Given the description of an element on the screen output the (x, y) to click on. 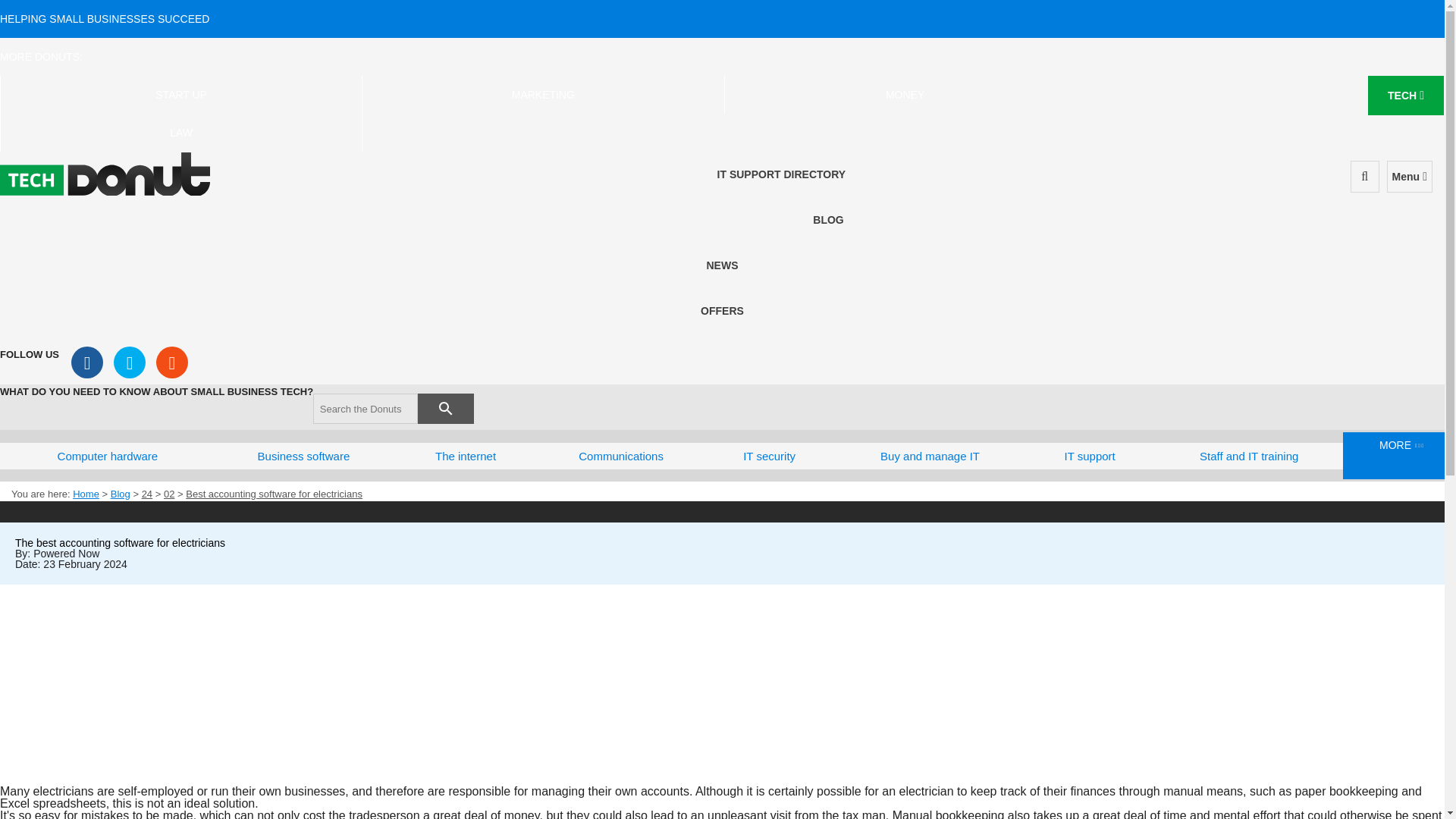
Buy and manage IT (930, 456)
OFFERS (722, 310)
Business software (303, 456)
START UP (181, 94)
MORE (1399, 455)
IT security (769, 456)
The internet (464, 456)
Communications (620, 456)
Staff and IT training (1248, 456)
